Given the description of an element on the screen output the (x, y) to click on. 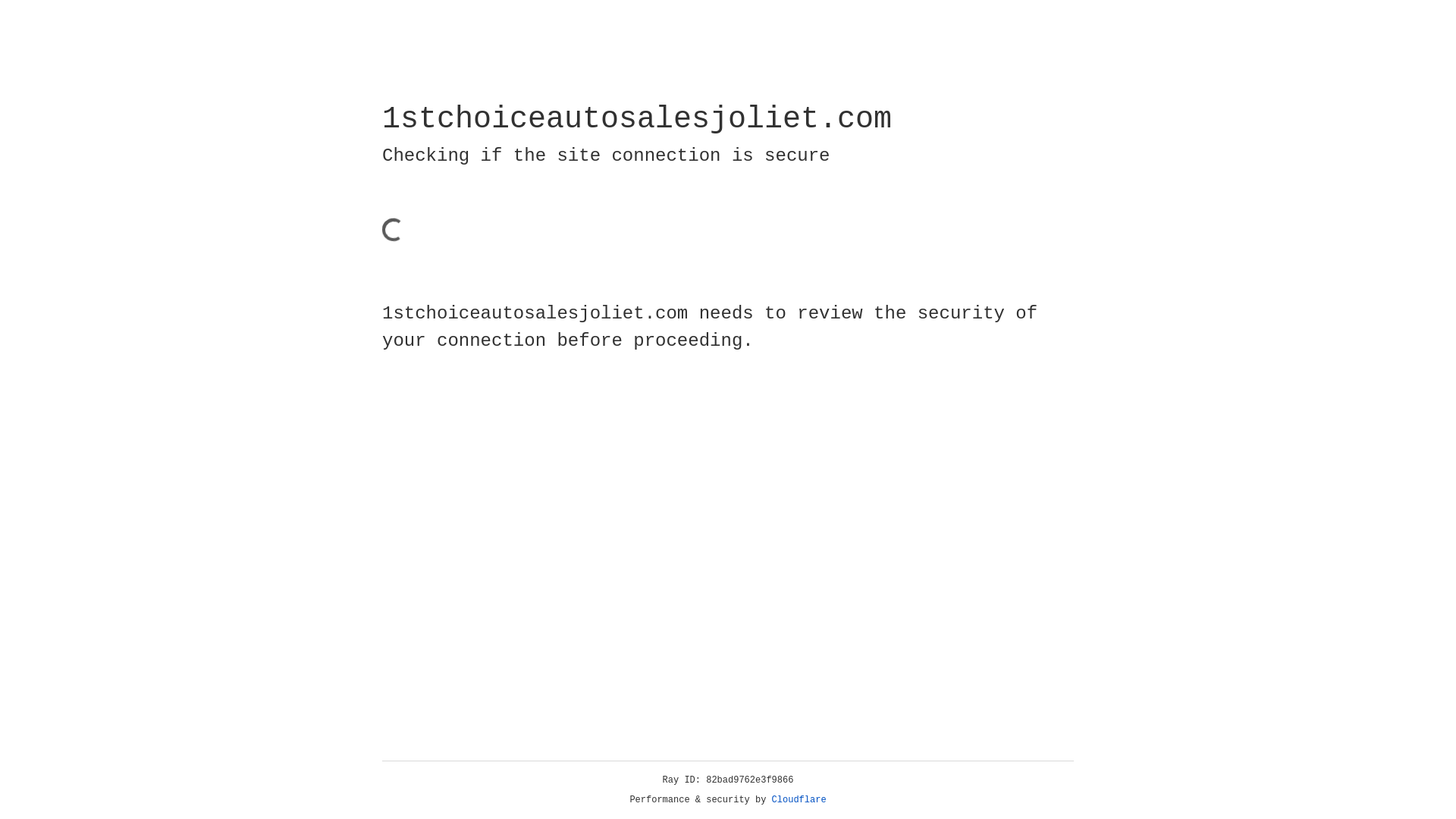
Cloudflare Element type: text (798, 799)
